Given the description of an element on the screen output the (x, y) to click on. 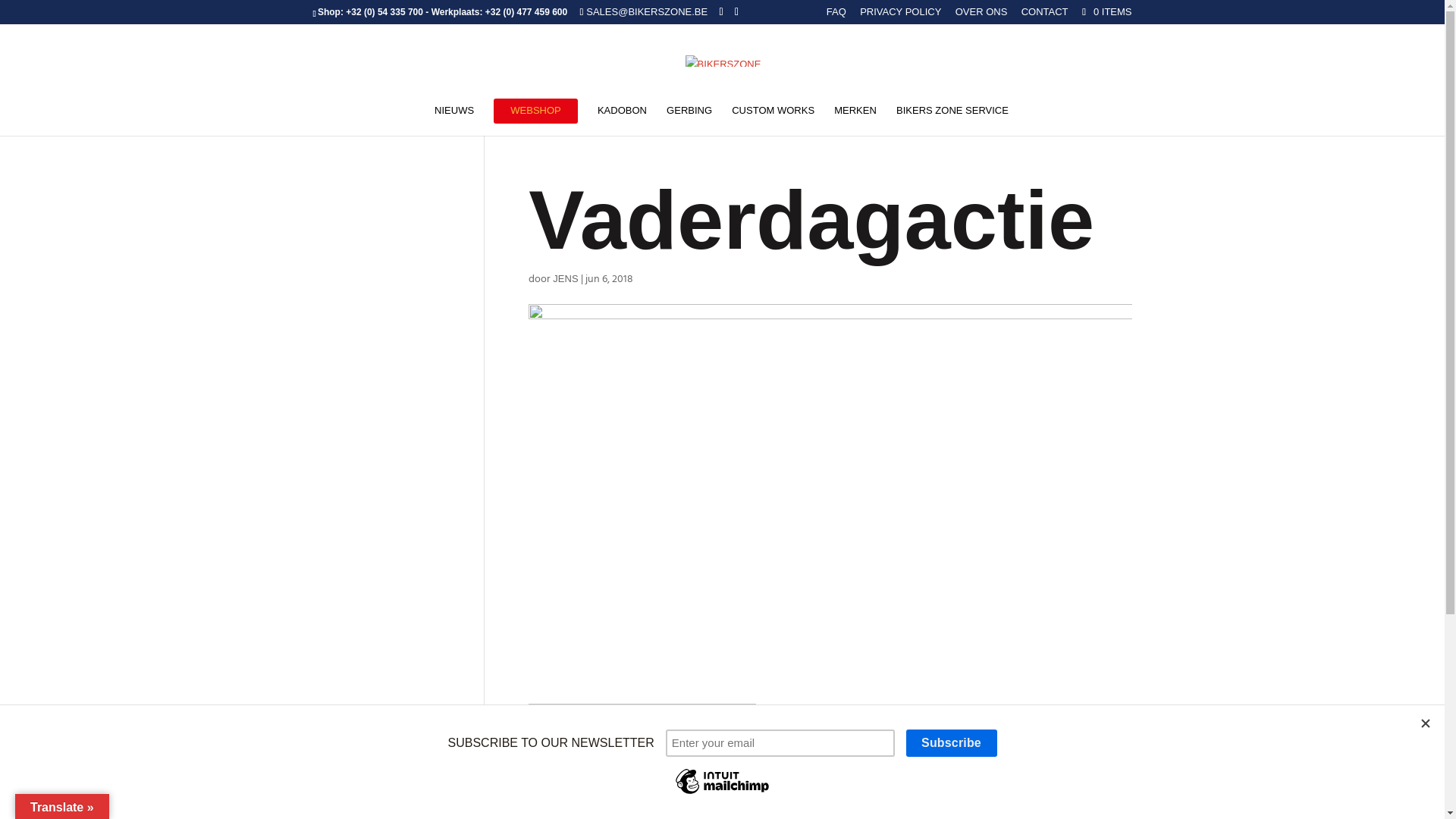
NIEUWS Element type: text (453, 120)
WEBSHOP Element type: text (535, 120)
FAQ Element type: text (836, 15)
PRIVACY POLICY Element type: text (900, 15)
SALES@BIKERSZONE.BE Element type: text (644, 11)
0 ITEMS Element type: text (1105, 11)
KADOBON Element type: text (621, 120)
CUSTOM WORKS Element type: text (772, 120)
CONTACT Element type: text (1044, 15)
JENS Element type: text (564, 278)
OVER ONS Element type: text (981, 15)
GERBING Element type: text (689, 120)
BIKERS ZONE SERVICE Element type: text (952, 120)
MERKEN Element type: text (855, 120)
